Given the description of an element on the screen output the (x, y) to click on. 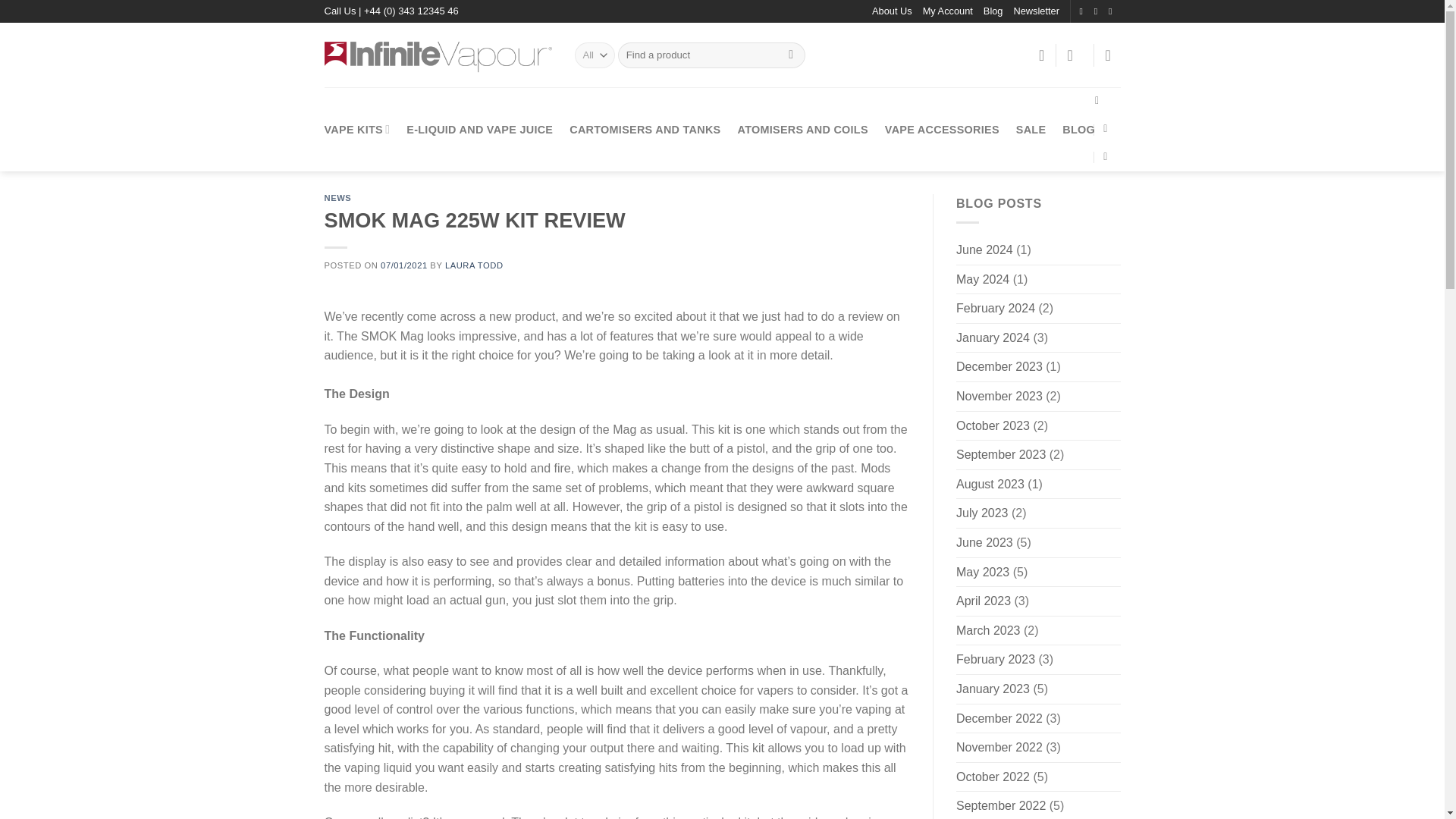
Sign up for Newsletter (1035, 11)
NEWS (338, 197)
About Us (892, 11)
My Account (947, 11)
Search (790, 54)
LAURA TODD (474, 265)
CARTOMISERS AND TANKS (644, 129)
Newsletter (1035, 11)
ATOMISERS AND COILS (802, 129)
